Given the description of an element on the screen output the (x, y) to click on. 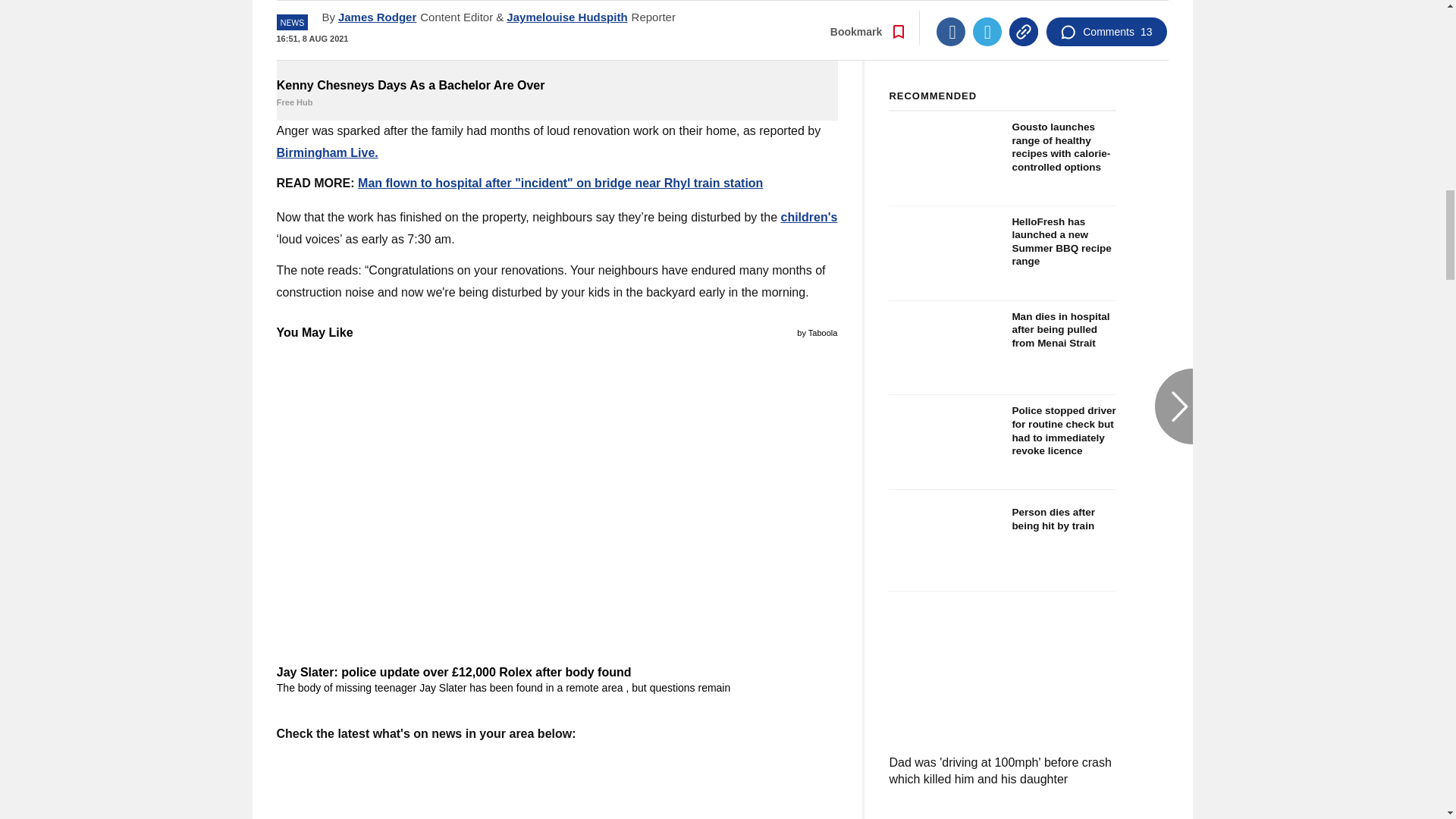
Kenny Chesneys Days As a Bachelor Are Over (557, 36)
Kenny Chesneys Days As a Bachelor Are Over (557, 93)
